Given the description of an element on the screen output the (x, y) to click on. 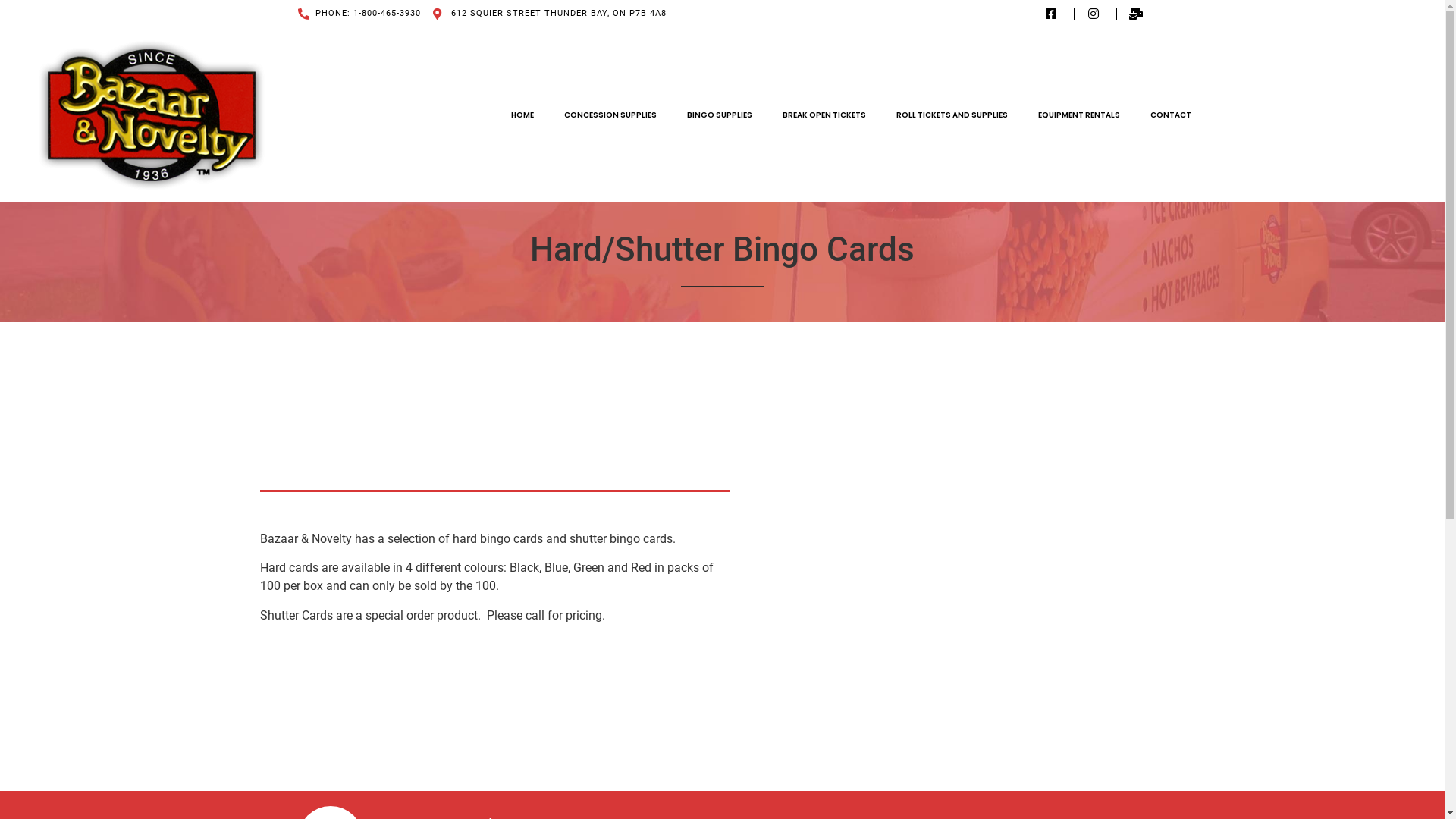
BINGO SUPPLIES Element type: text (719, 114)
HOME Element type: text (522, 114)
612 SQUIER STREET THUNDER BAY, ON P7B 4A8 Element type: text (549, 13)
PHONE: 1-800-465-3930 Element type: text (358, 13)
EQUIPMENT RENTALS Element type: text (1078, 114)
ROLL TICKETS AND SUPPLIES Element type: text (951, 114)
CONCESSION SUPPLIES Element type: text (610, 114)
BREAK OPEN TICKETS Element type: text (824, 114)
CONTACT Element type: text (1170, 114)
